Given the description of an element on the screen output the (x, y) to click on. 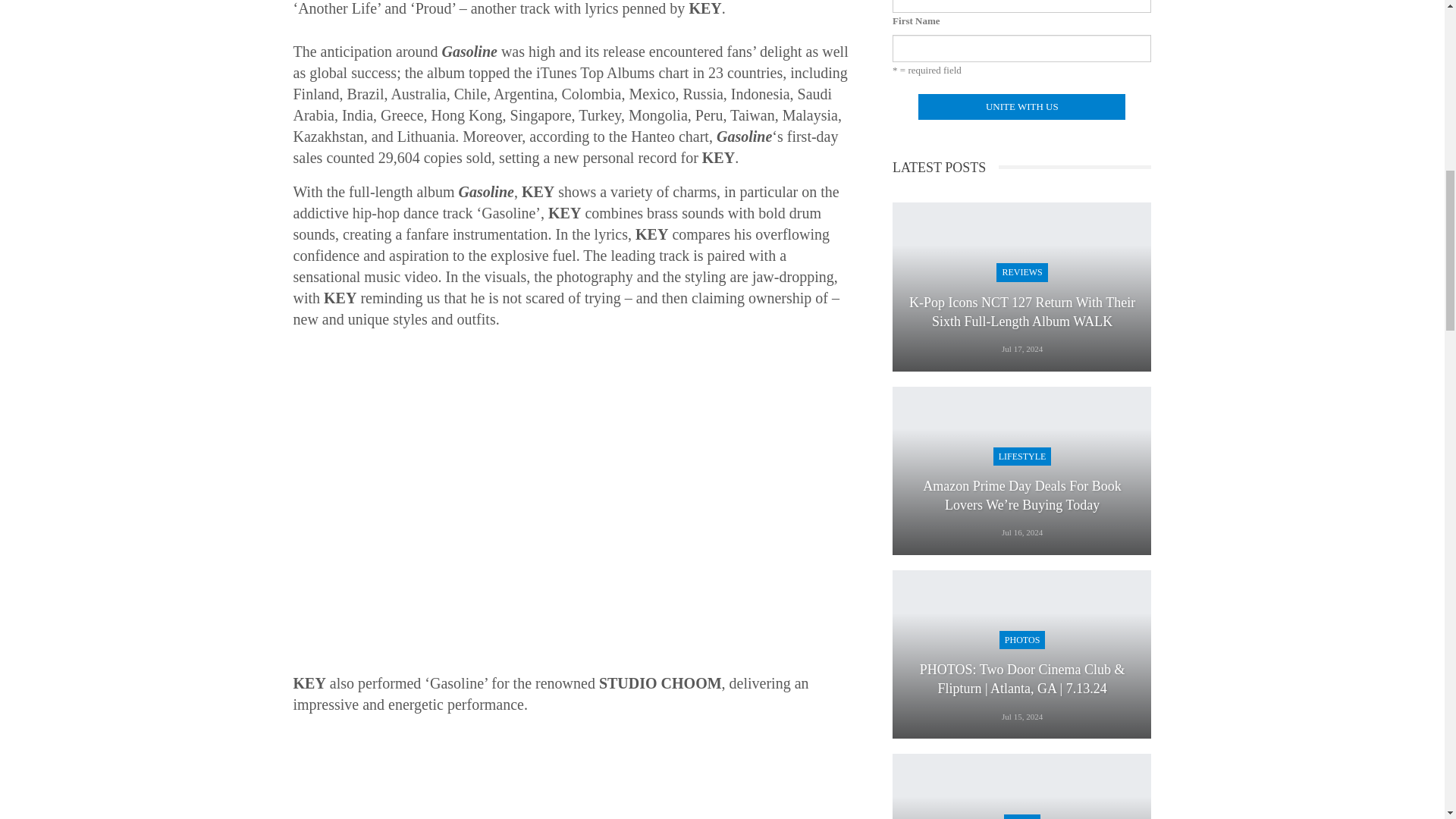
Unite With Us (1021, 106)
